Given the description of an element on the screen output the (x, y) to click on. 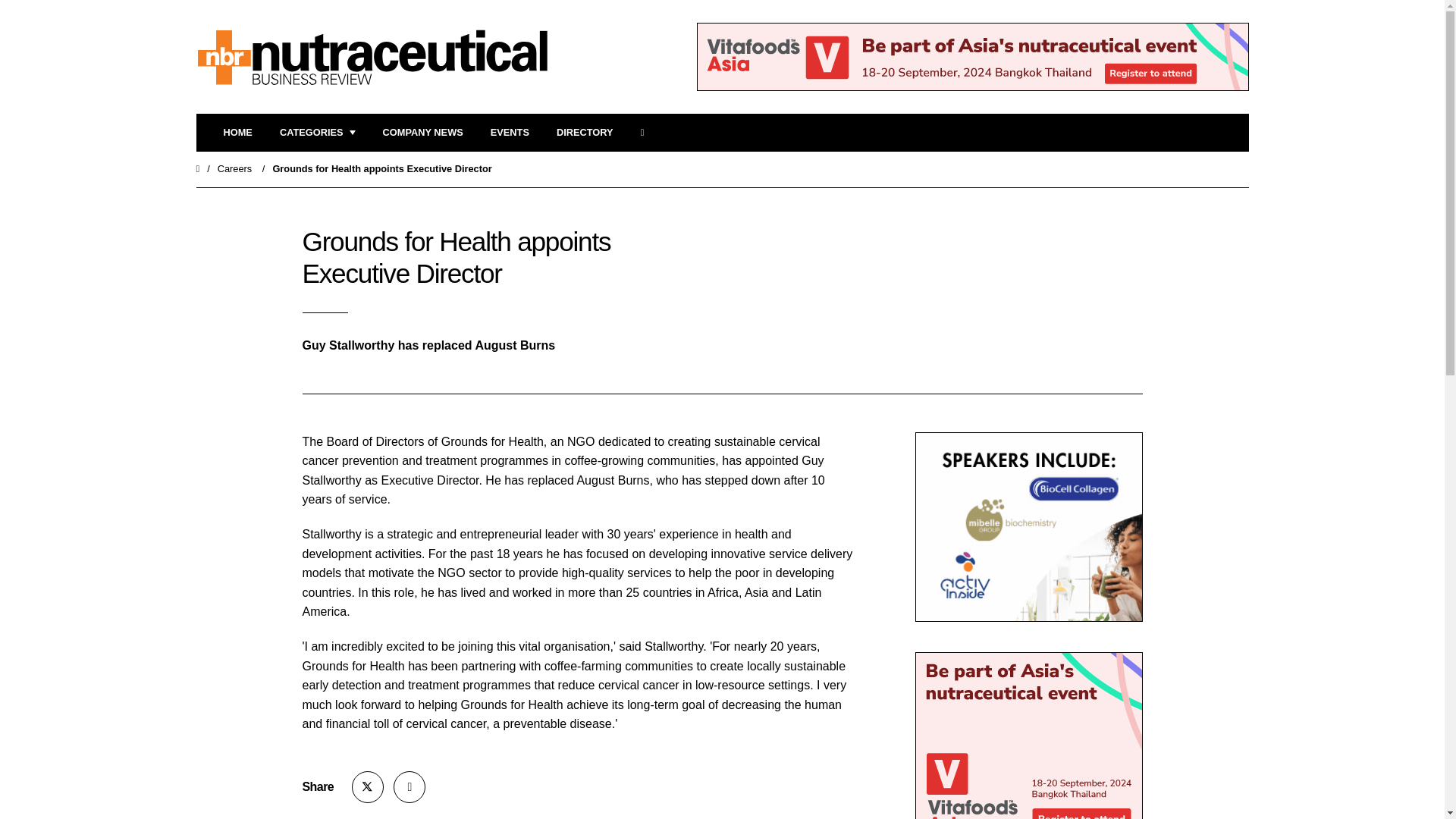
HOME (236, 133)
Follow Nutraceutical Business Review on X (368, 787)
SEARCH (646, 133)
DIRECTORY (584, 133)
CATEGORIES (317, 133)
X (368, 787)
LinkedIn (409, 787)
COMPANY NEWS (422, 133)
Directory (584, 133)
Follow Nutraceutical Business Review on LinkedIn (409, 787)
EVENTS (509, 133)
